Given the description of an element on the screen output the (x, y) to click on. 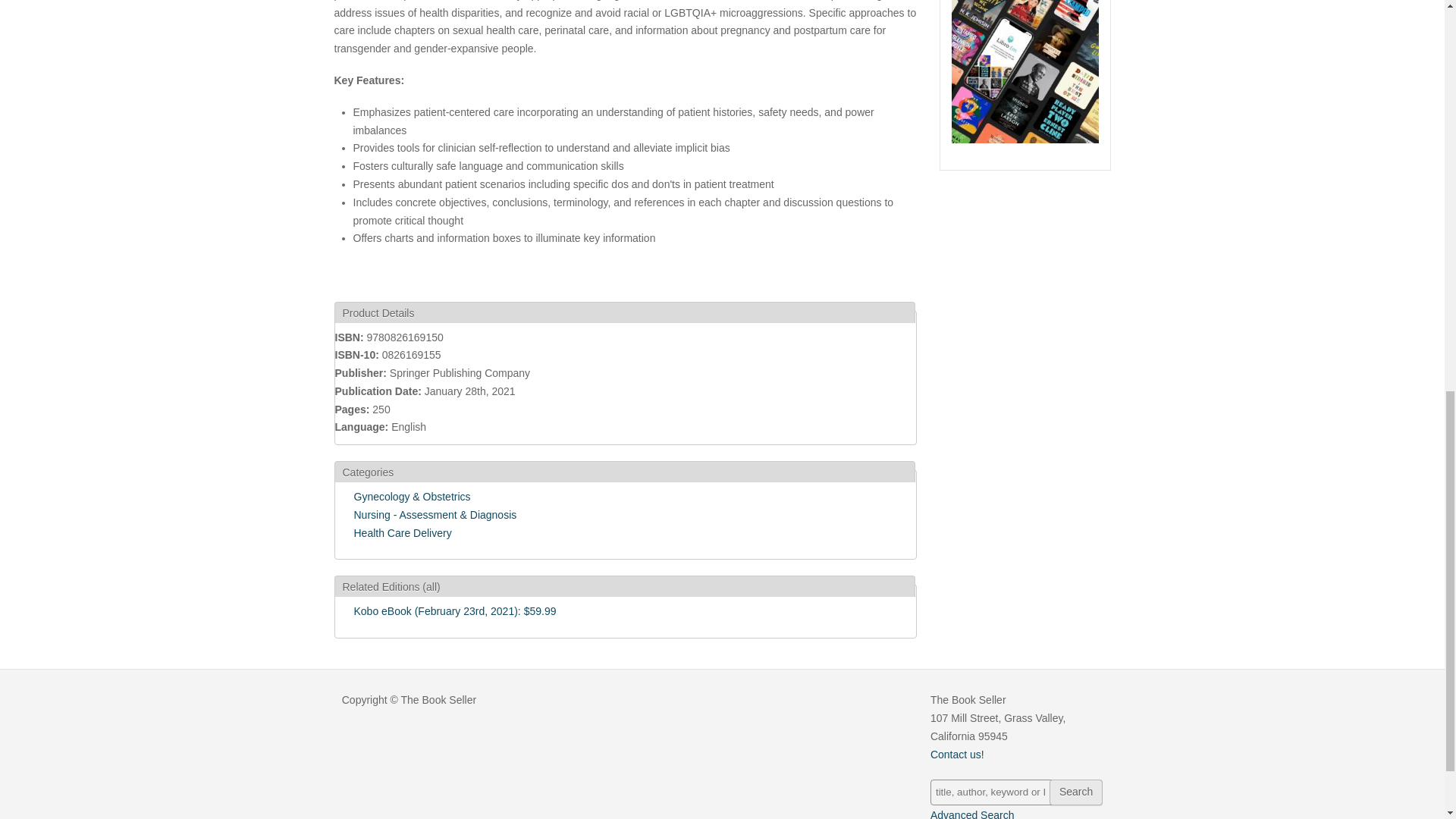
Enter the terms you wish to search for. (1016, 792)
Search (1075, 792)
